Given the description of an element on the screen output the (x, y) to click on. 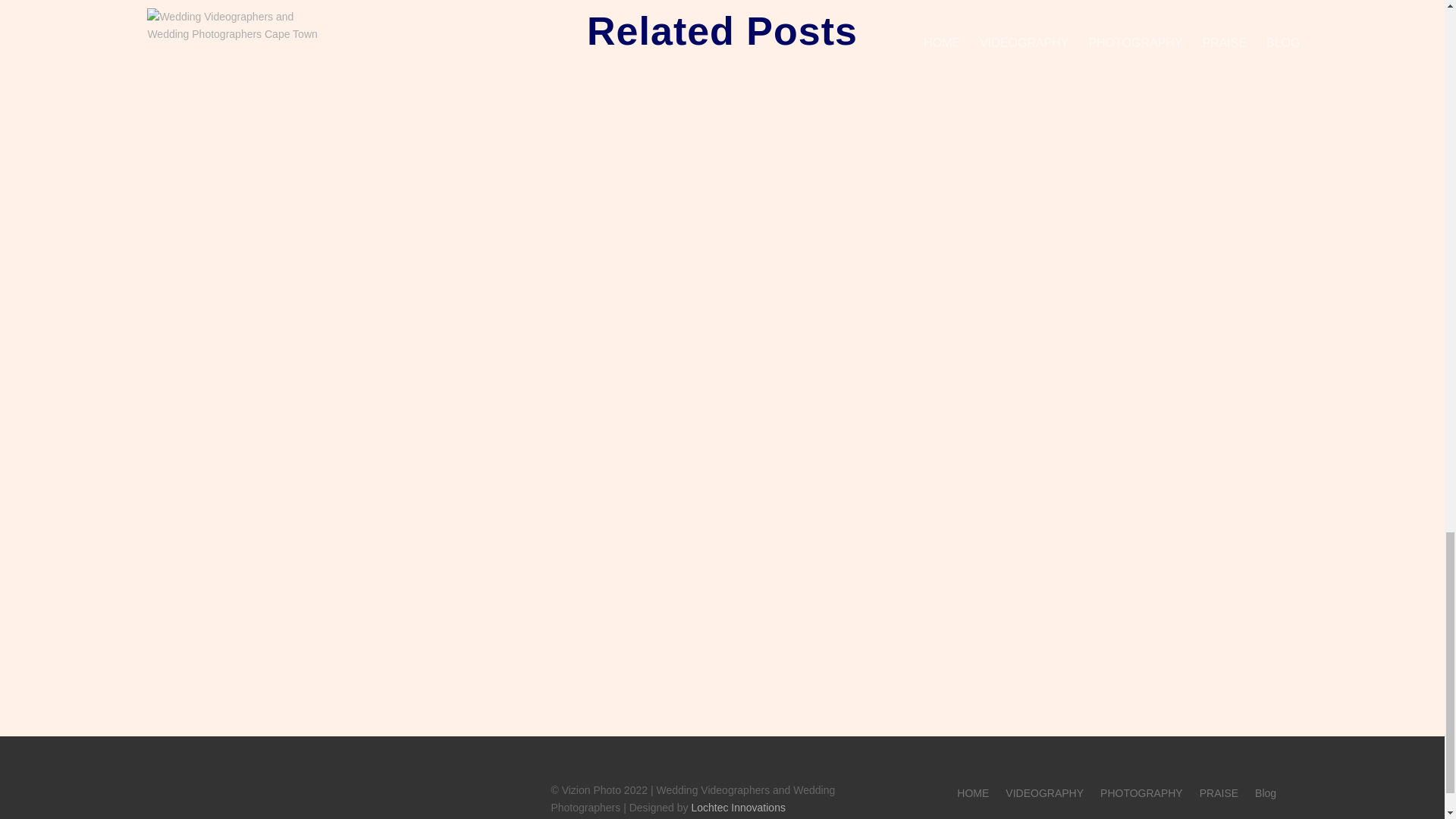
HOME (972, 795)
Blog (1265, 795)
VIDEOGRAPHY (1044, 795)
PRAISE (1219, 795)
Lochtec Innovations (738, 807)
PHOTOGRAPHY (1141, 795)
